Given the description of an element on the screen output the (x, y) to click on. 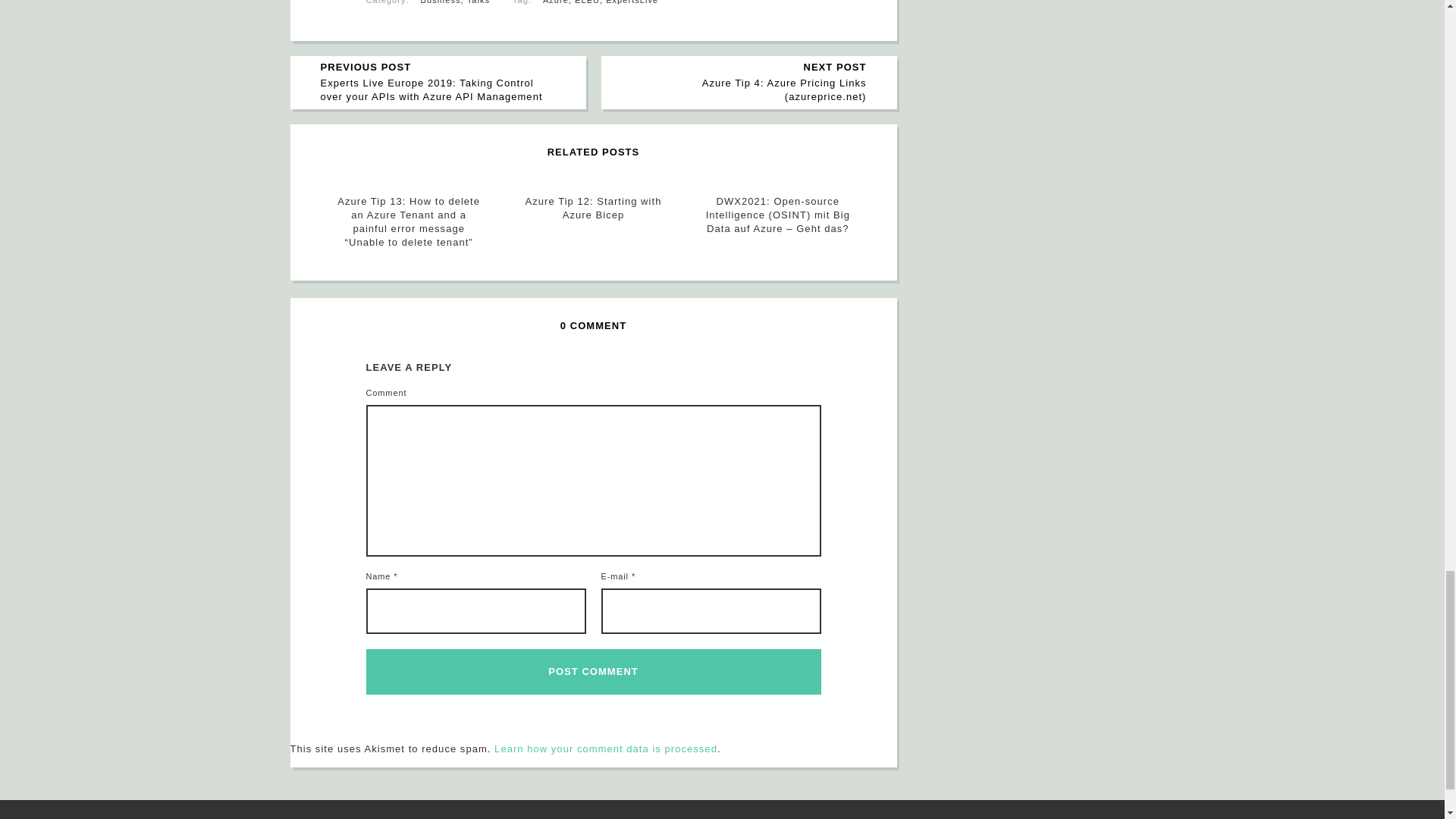
ELEU (587, 2)
Talks (478, 2)
Learn how your comment data is processed (606, 748)
Azure (556, 2)
POST COMMENT (593, 671)
Azure Tip 12: Starting with Azure Bicep (593, 208)
Business (440, 2)
ExpertsLive (631, 2)
POST COMMENT (593, 671)
